Given the description of an element on the screen output the (x, y) to click on. 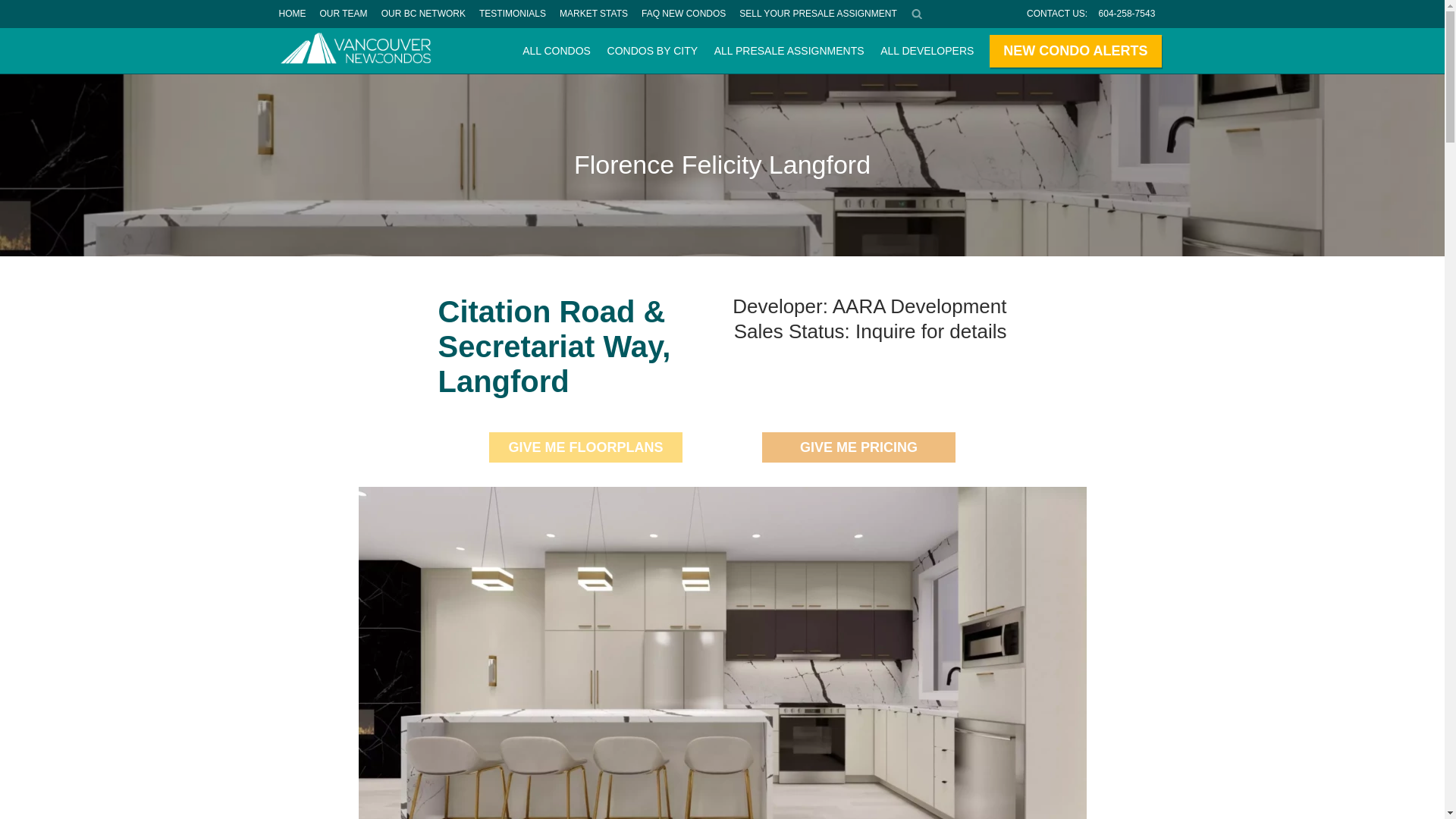
HOME (291, 13)
ALL PRESALE ASSIGNMENTS (789, 50)
NEW CONDO ALERTS (1075, 51)
604-258-7543 (1126, 13)
ALL DEVELOPERS (926, 50)
MARKET STATS (593, 13)
ALL CONDOS (555, 50)
OUR BC NETWORK (422, 13)
FAQ NEW CONDOS (683, 13)
SELL YOUR PRESALE ASSIGNMENT (817, 13)
CONDOS BY CITY (652, 50)
CONTACT US: (1057, 13)
TESTIMONIALS (512, 13)
GIVE ME PRICING (858, 447)
GIVE ME FLOORPLANS (585, 447)
